Given the description of an element on the screen output the (x, y) to click on. 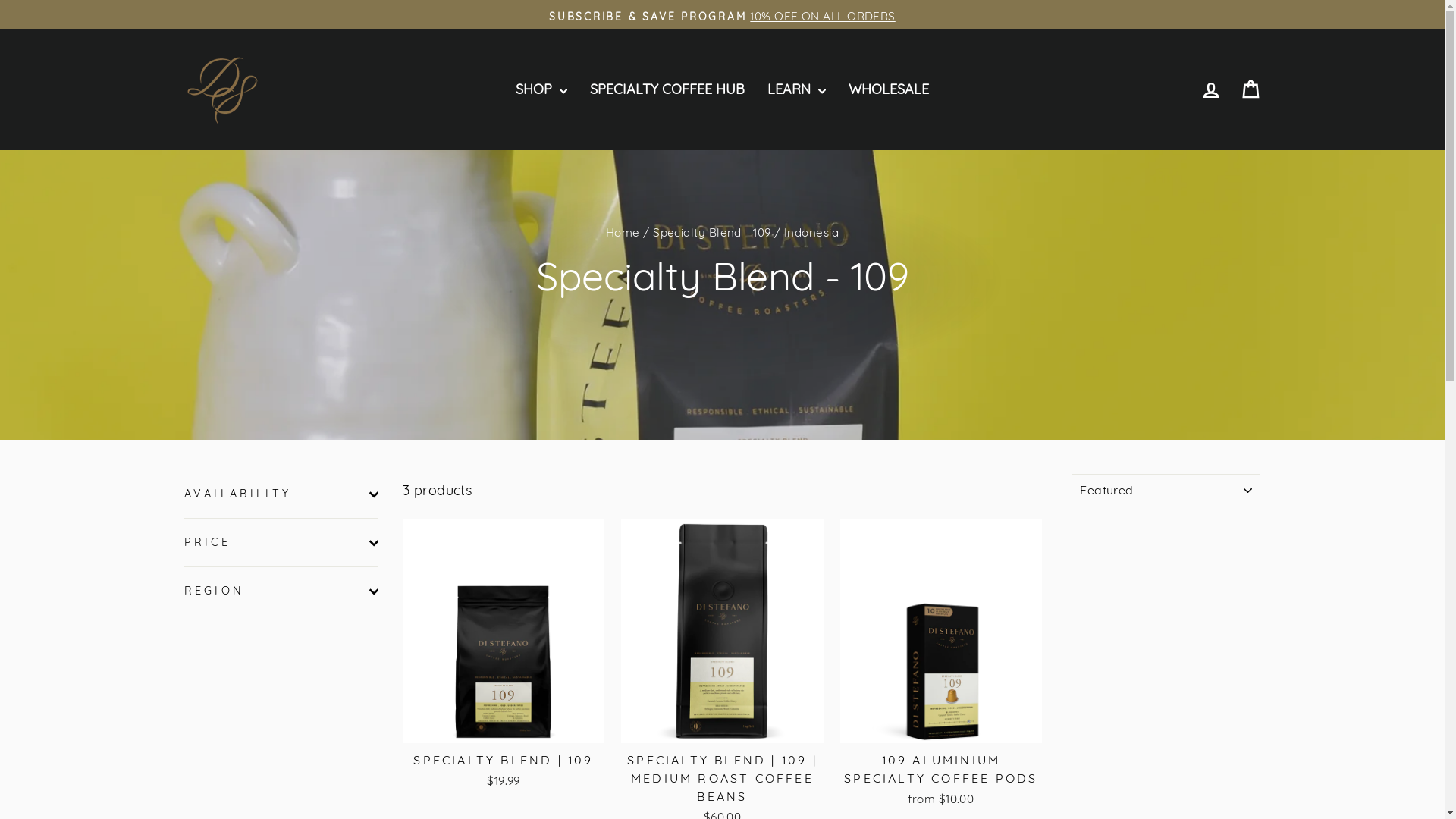
REGION Element type: text (280, 591)
AVAILABILITY Element type: text (280, 493)
109 ALUMINIUM SPECIALTY COFFEE PODS
from $10.00 Element type: text (940, 777)
CART Element type: text (1249, 88)
ACCOUNT
LOG IN Element type: text (1210, 88)
WHOLESALE Element type: text (888, 89)
Specialty Blend - 109 Element type: text (711, 232)
SPECIALTY BLEND | 109
$19.99 Element type: text (503, 768)
SPECIALTY COFFEE HUB Element type: text (667, 89)
SUBSCRIBE & SAVE PROGRAM10% OFF ON ALL ORDERS Element type: text (722, 16)
PRICE Element type: text (280, 542)
Home Element type: text (622, 232)
